Given the description of an element on the screen output the (x, y) to click on. 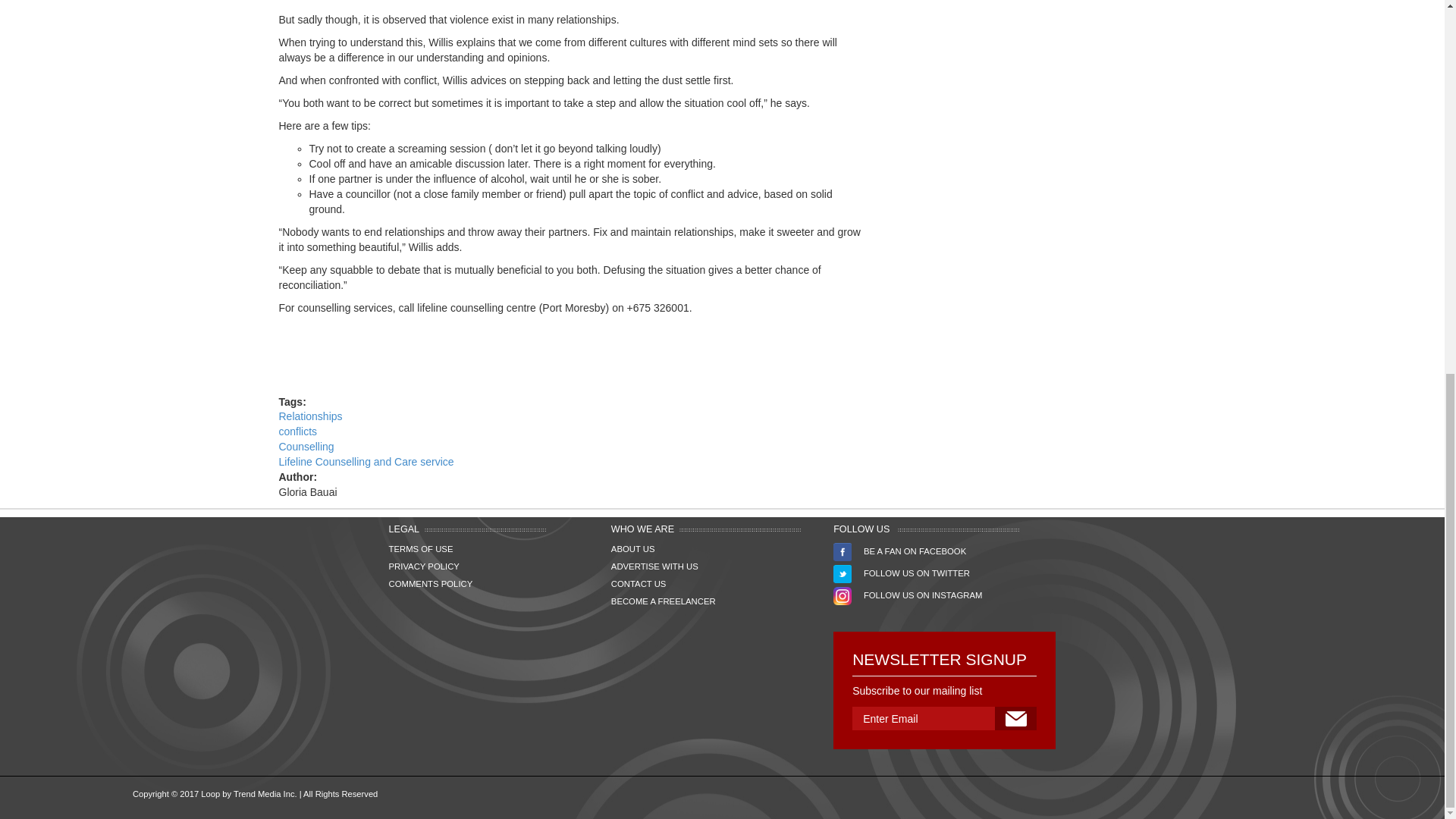
conflicts (298, 431)
Lifeline Counselling and Care service (366, 461)
Relationships (310, 416)
Subscribe (1015, 718)
Counselling (306, 446)
